Given the description of an element on the screen output the (x, y) to click on. 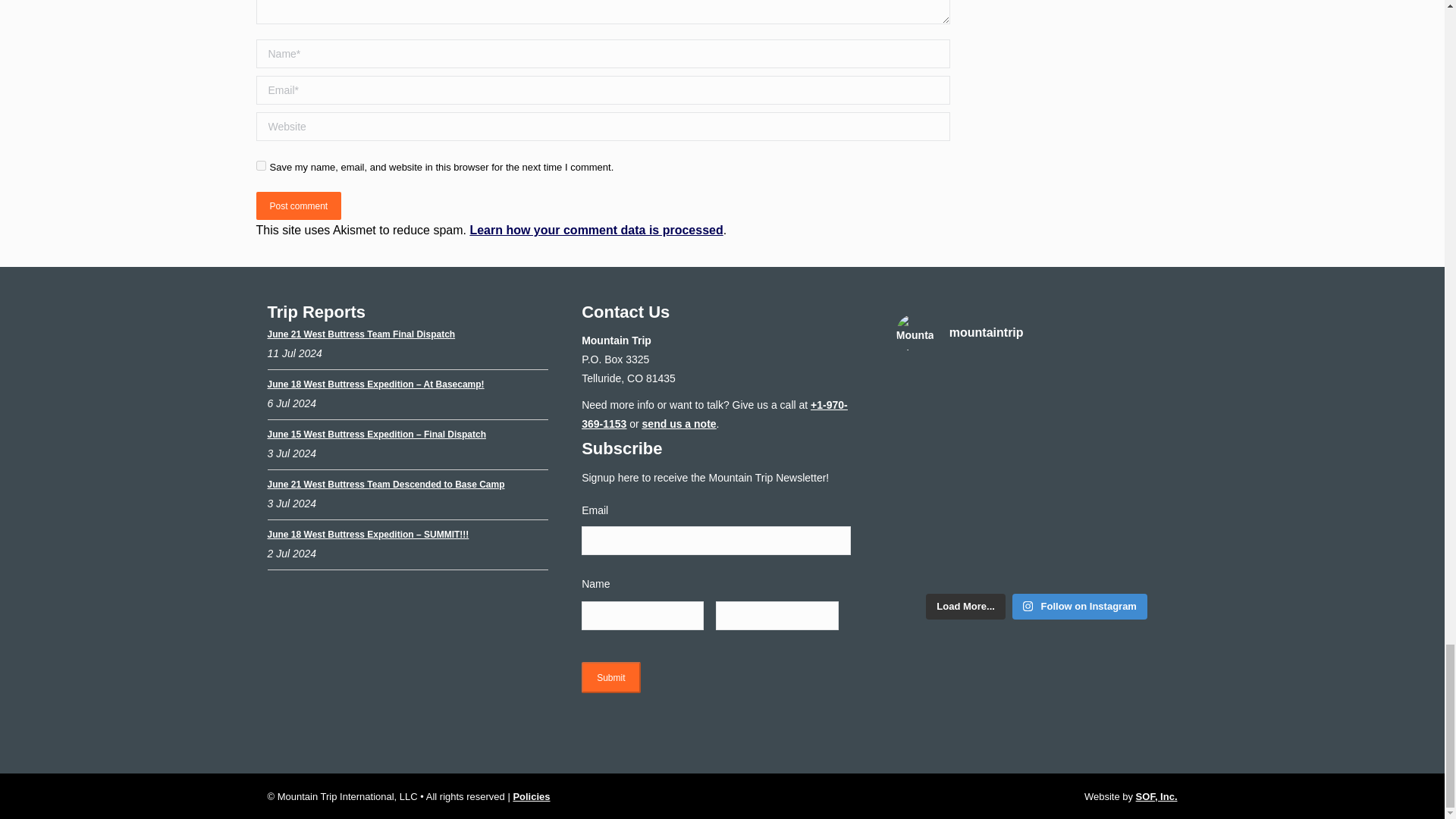
Submit (610, 676)
yes (261, 165)
Permanent link to June 21 West Buttress Team Final Dispatch (360, 334)
